Given the description of an element on the screen output the (x, y) to click on. 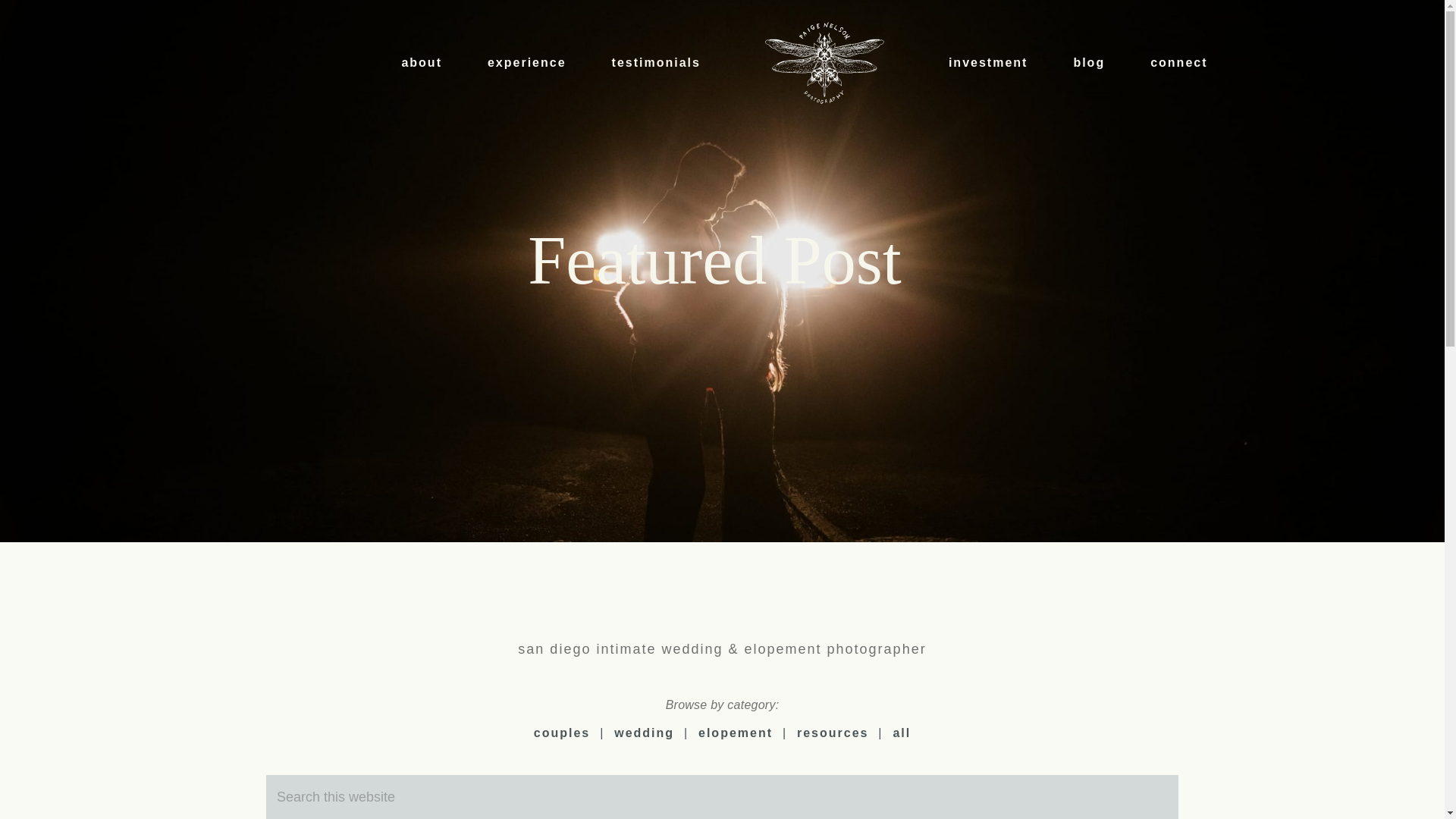
experience (526, 62)
elopement (735, 732)
about (421, 62)
couples (561, 732)
testimonials (656, 62)
wedding (644, 732)
all (901, 732)
